Given the description of an element on the screen output the (x, y) to click on. 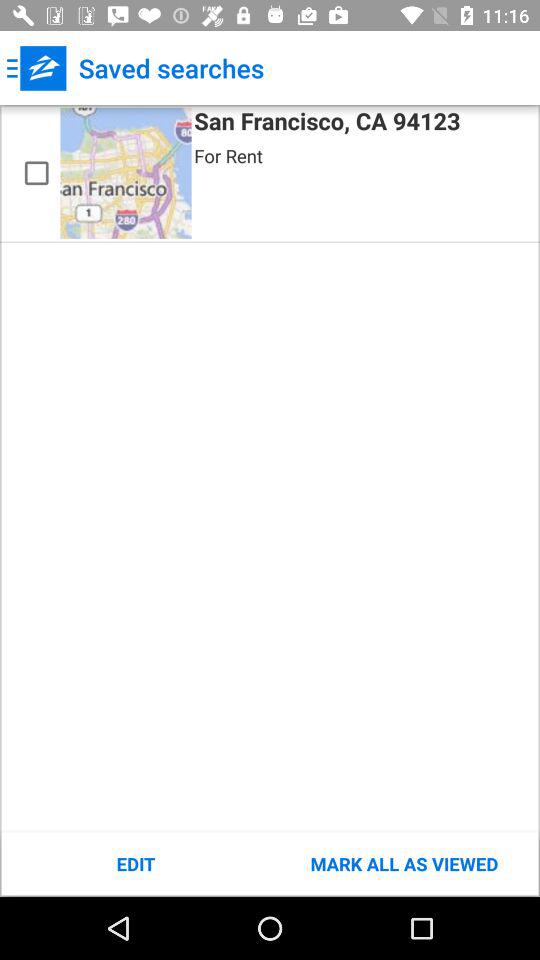
tap the icon above edit icon (36, 173)
